Given the description of an element on the screen output the (x, y) to click on. 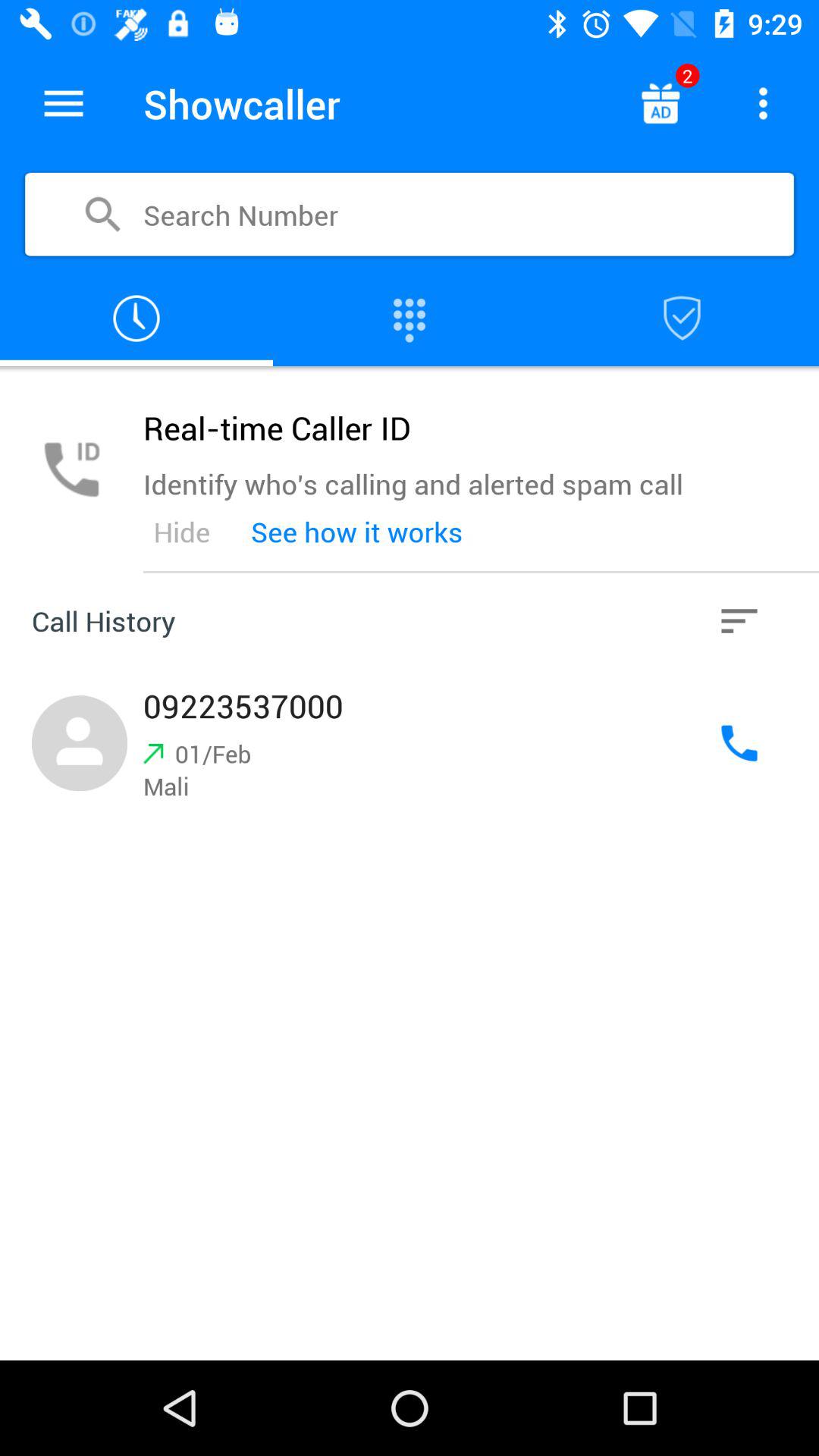
select the see how it item (356, 531)
